Given the description of an element on the screen output the (x, y) to click on. 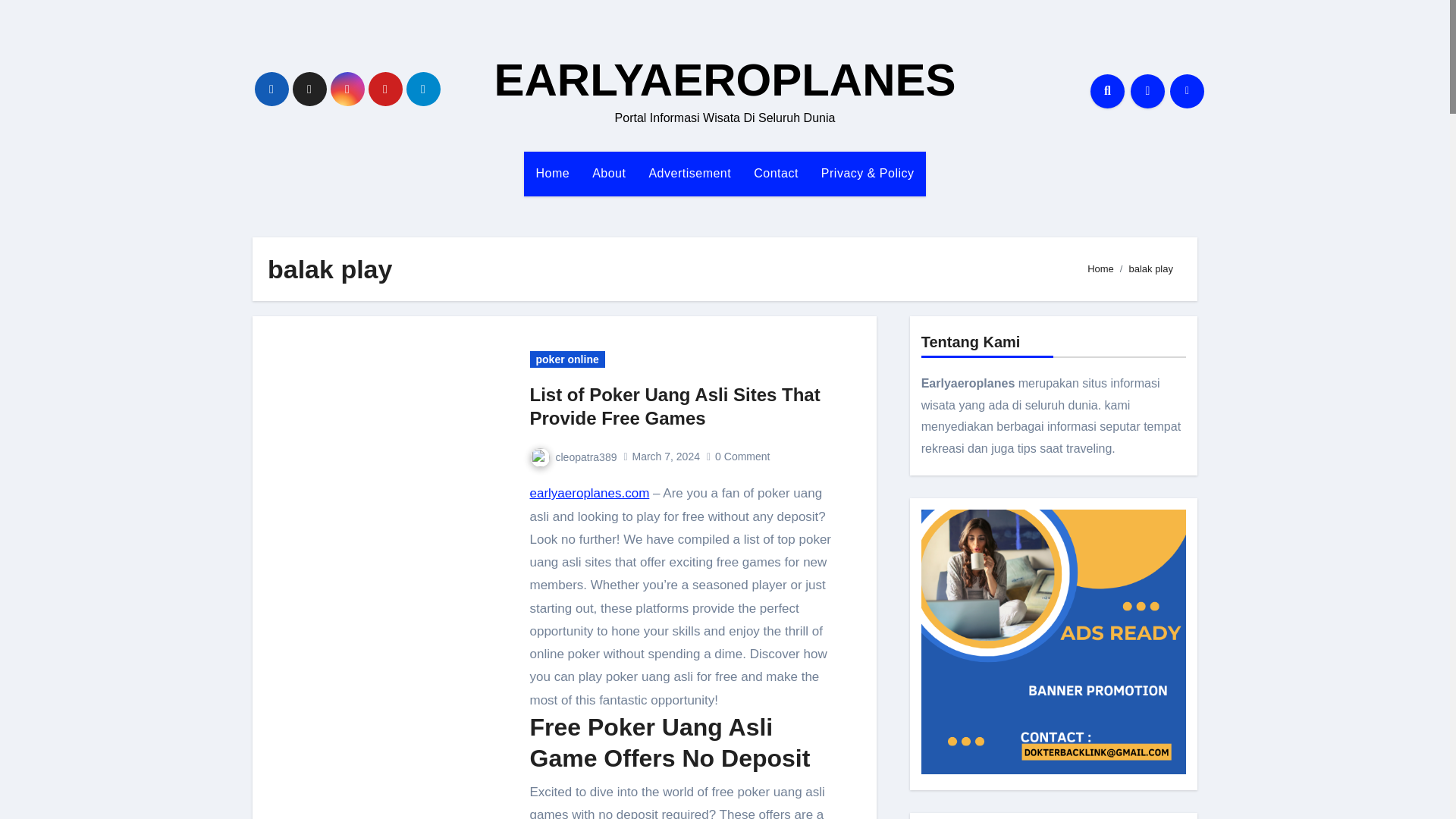
Home (552, 173)
Home (1100, 268)
poker online (566, 359)
cleopatra389 (572, 456)
List of Poker Uang Asli Sites That Provide Free Games (674, 406)
Advertisement (689, 173)
earlyaeroplanes.com (589, 493)
0Comment (743, 456)
March 7, 2024 (665, 456)
EARLYAEROPLANES (724, 79)
